Given the description of an element on the screen output the (x, y) to click on. 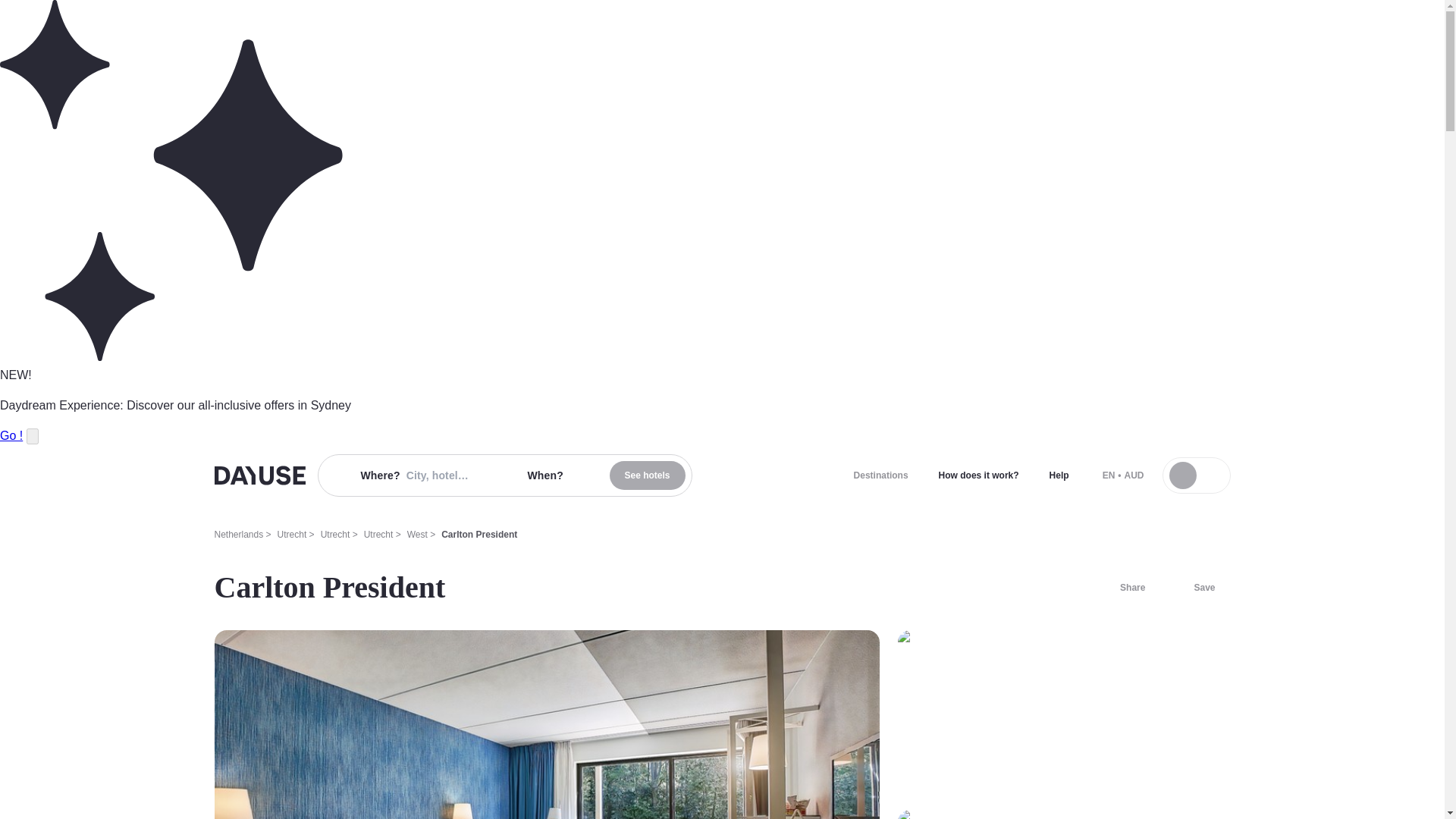
Dayuse (259, 475)
Save (1195, 587)
See hotels (647, 475)
Help (1058, 474)
Destinations (880, 474)
Netherlands (238, 534)
Share (1123, 587)
How does it work? (978, 474)
Utrecht (378, 534)
West (417, 534)
Utrecht (292, 534)
Utrecht (335, 534)
